Given the description of an element on the screen output the (x, y) to click on. 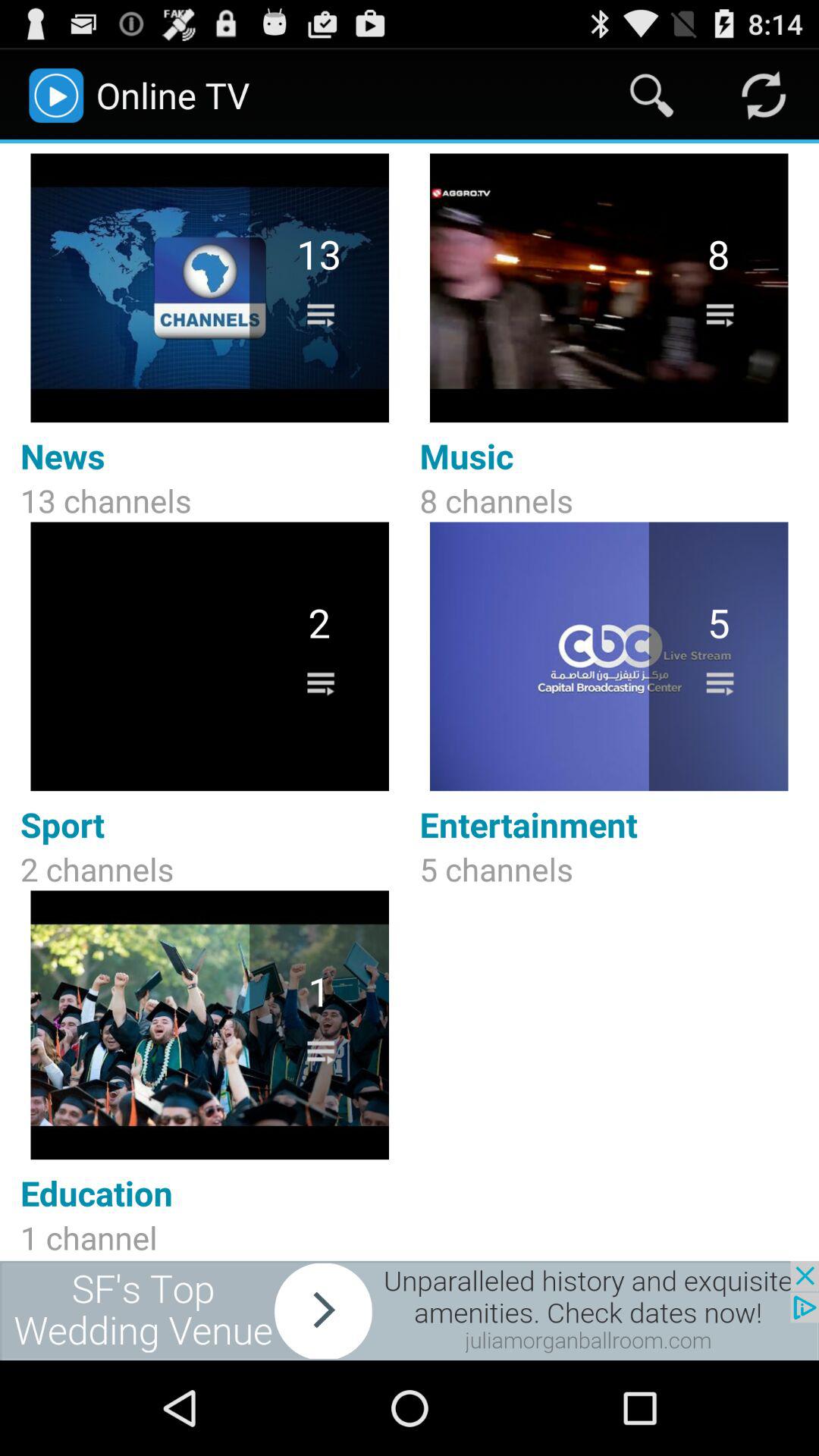
refresh option (763, 95)
